Given the description of an element on the screen output the (x, y) to click on. 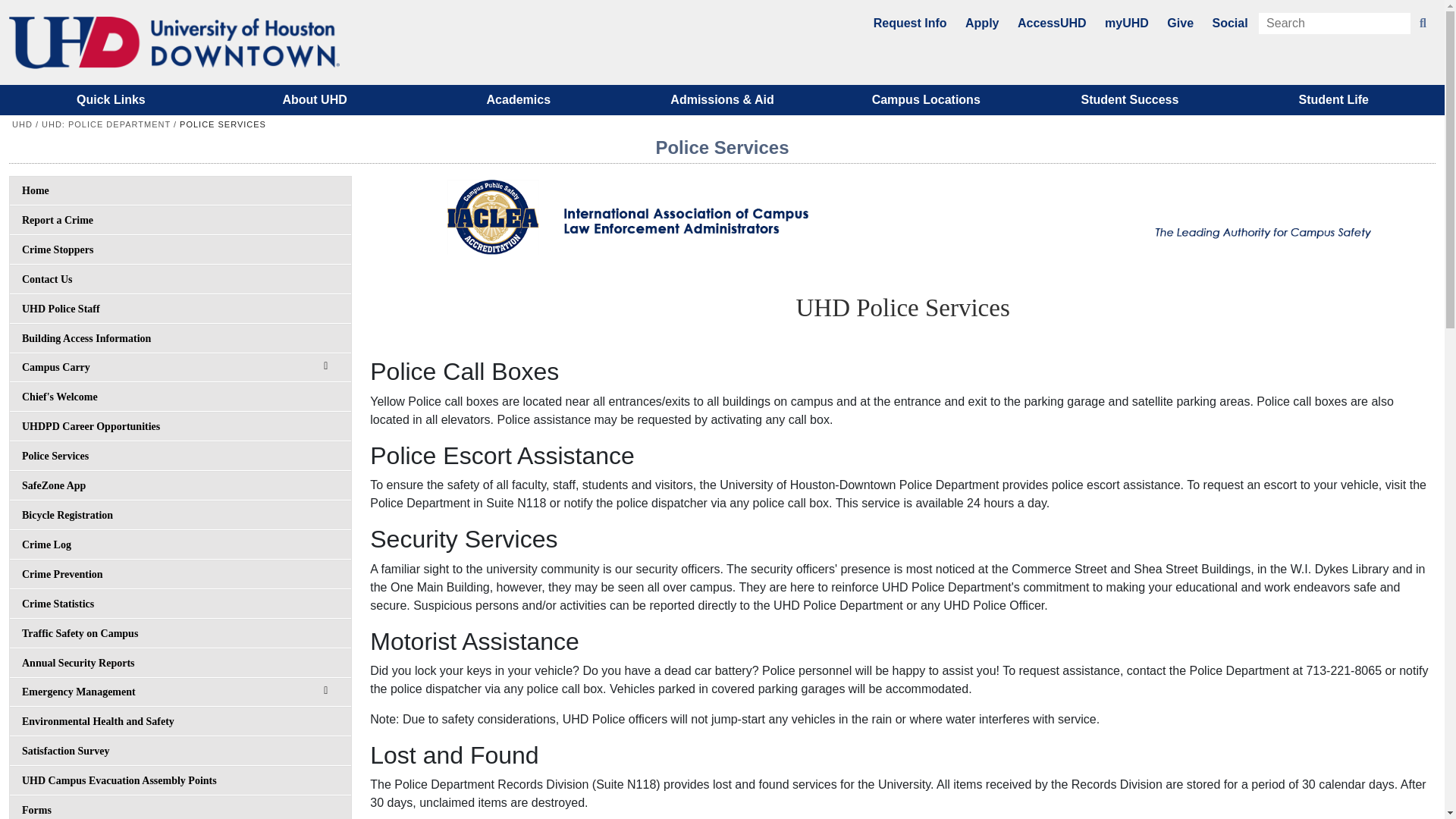
Apply (981, 22)
AccessUHD (1051, 22)
Request Info (910, 22)
Social (1229, 22)
Quick Links (110, 100)
submit (1422, 23)
Give (1180, 22)
myUHD (1126, 22)
